Given the description of an element on the screen output the (x, y) to click on. 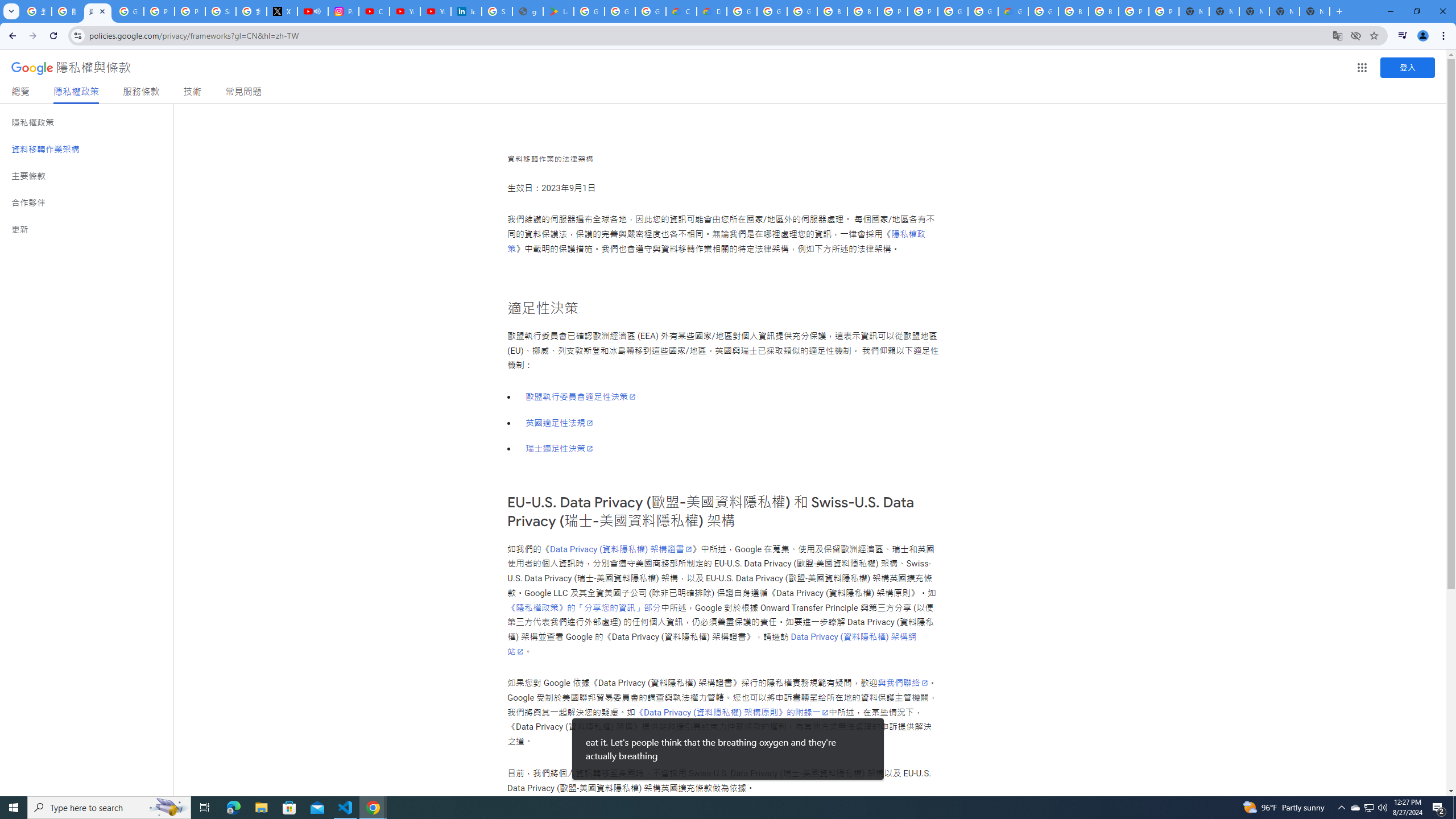
Last Shelter: Survival - Apps on Google Play (558, 11)
Privacy Help Center - Policies Help (158, 11)
Google Cloud Platform (982, 11)
Browse Chrome as a guest - Computer - Google Chrome Help (1103, 11)
